Given the description of an element on the screen output the (x, y) to click on. 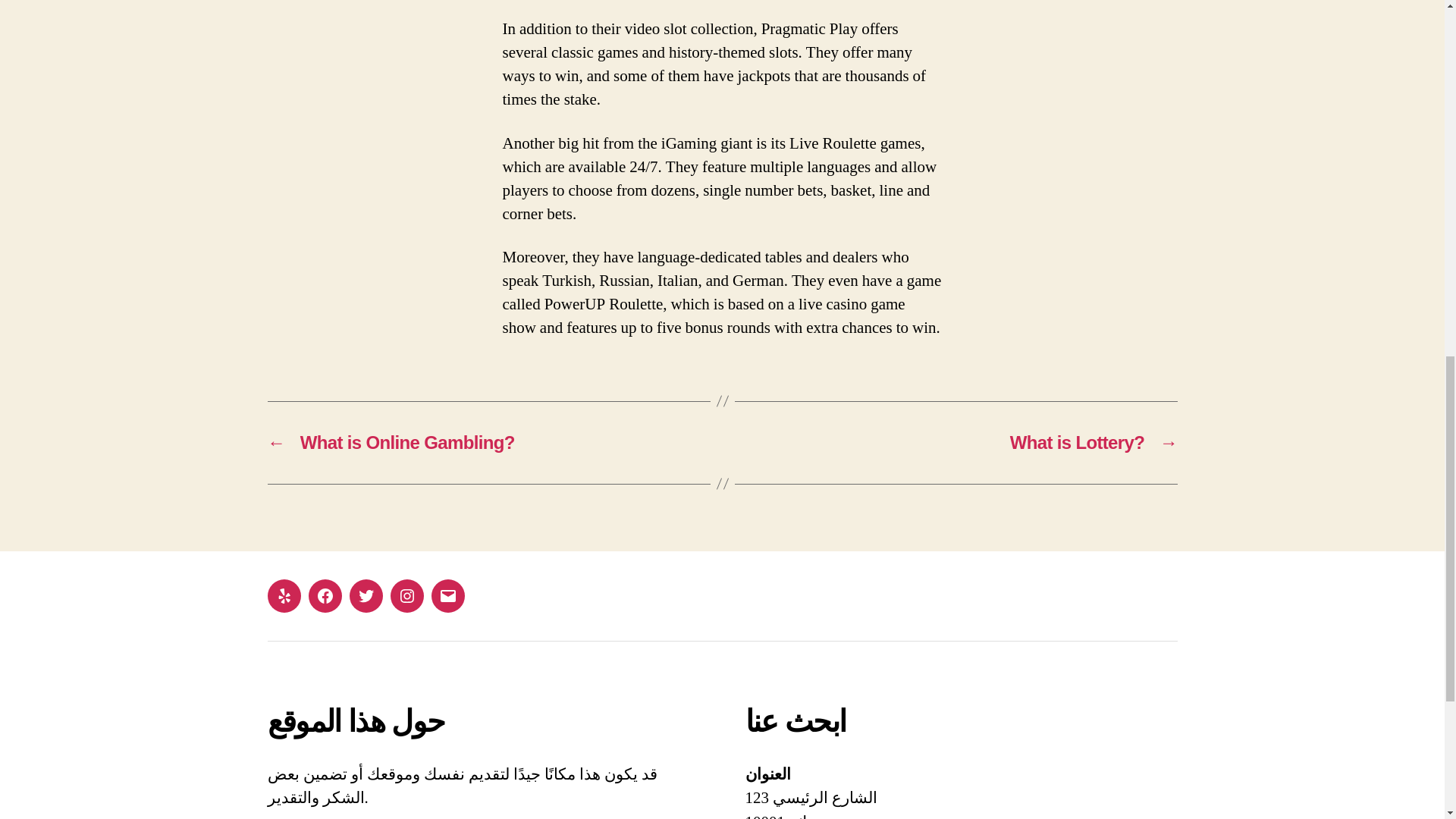
Yelp (282, 595)
Instagram (406, 595)
